Given the description of an element on the screen output the (x, y) to click on. 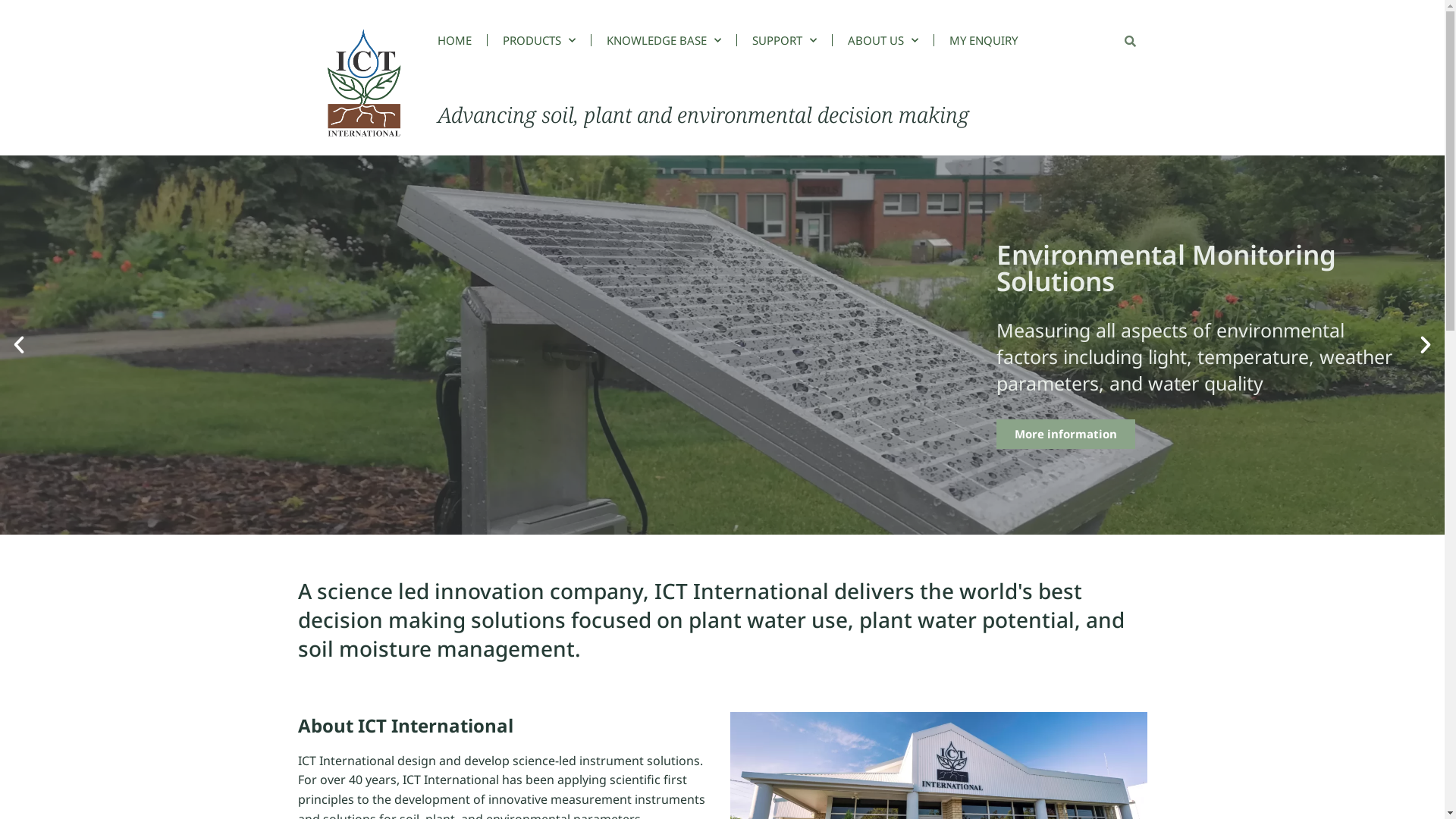
SUPPORT Element type: text (784, 39)
KNOWLEDGE BASE Element type: text (663, 39)
More information Element type: text (844, 420)
ABOUT US Element type: text (882, 39)
PRODUCTS Element type: text (538, 39)
HOME Element type: text (461, 39)
MY ENQUIRY Element type: text (983, 39)
